Given the description of an element on the screen output the (x, y) to click on. 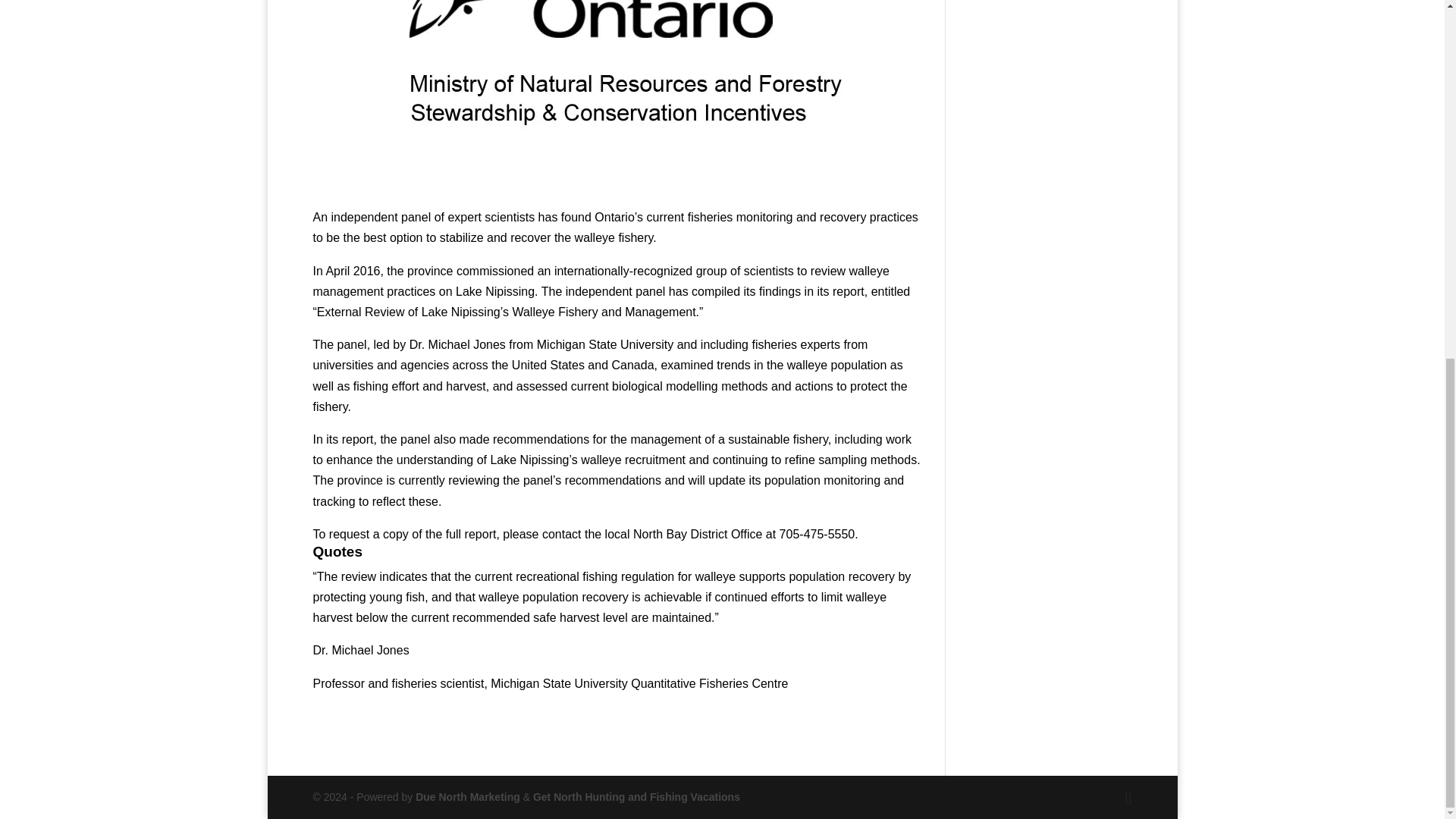
Due North Marketing (466, 797)
Get North Hunting and Fishing Vacations (635, 797)
